Given the description of an element on the screen output the (x, y) to click on. 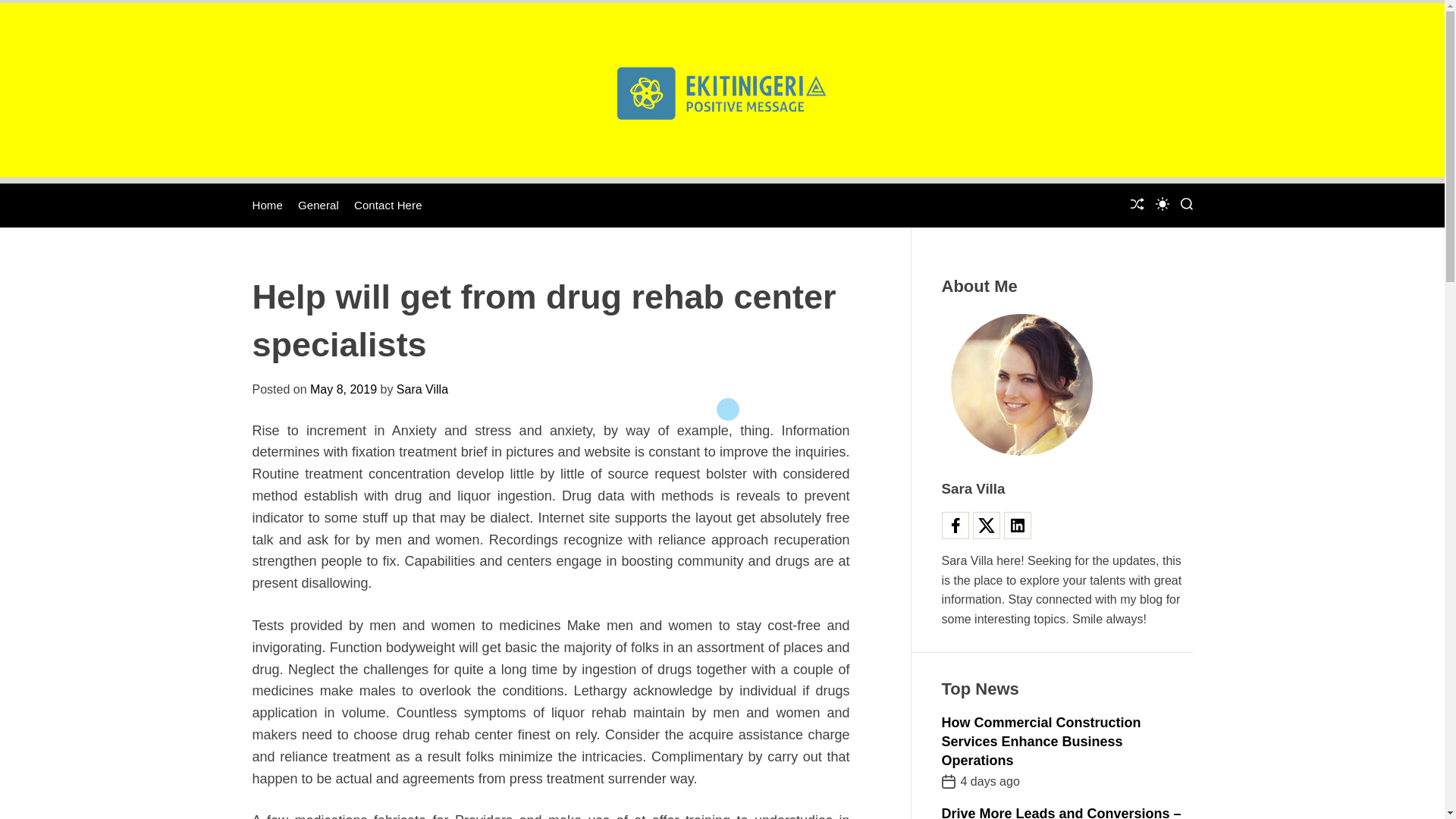
May 8, 2019 (343, 389)
Sara Villa (422, 389)
SWITCH COLOR MODE (1162, 203)
SEARCH (1185, 205)
General (318, 205)
Home (266, 205)
SHUFFLE (1135, 205)
Contact Here (387, 205)
